Given the description of an element on the screen output the (x, y) to click on. 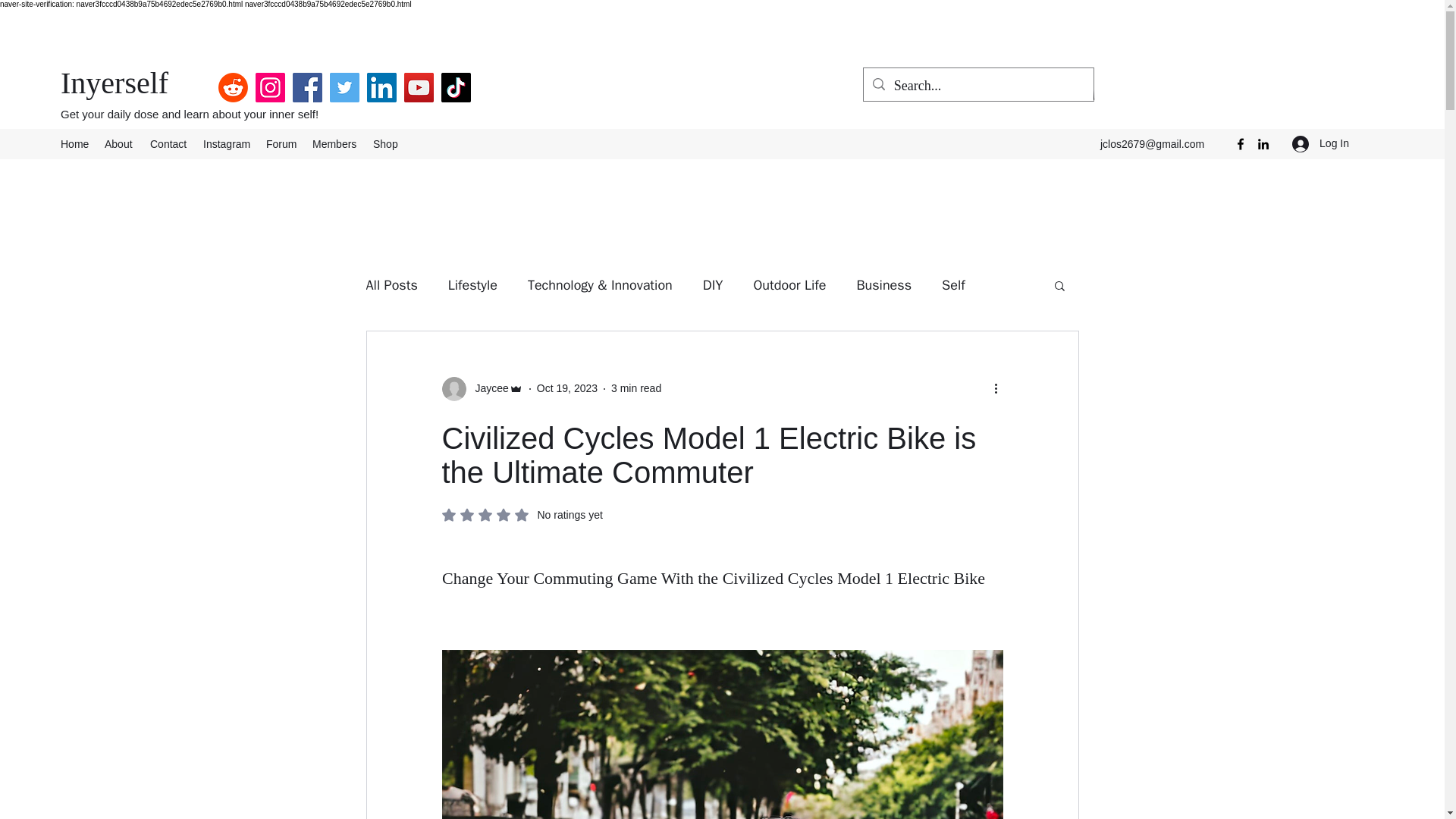
Log In (1320, 143)
Instagram (227, 143)
Contact (521, 514)
Business (168, 143)
Forum (883, 285)
Jaycee (281, 143)
Jaycee (486, 388)
DIY (481, 388)
Home (713, 285)
3 min read (74, 143)
Lifestyle (636, 387)
About (472, 285)
Self (119, 143)
Members (953, 285)
